Given the description of an element on the screen output the (x, y) to click on. 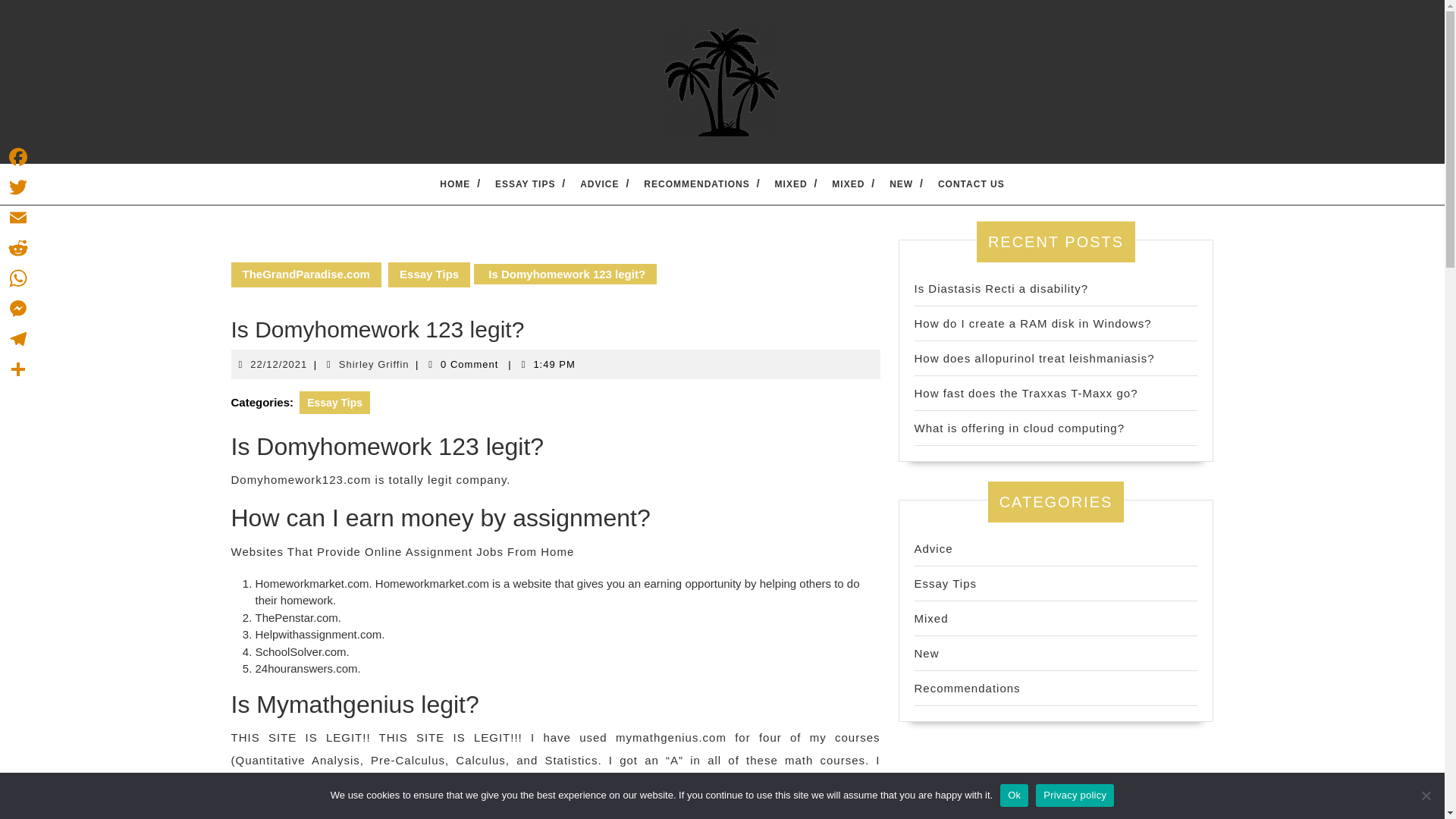
Essay Tips (429, 274)
MIXED (847, 183)
WhatsApp (17, 277)
Essay Tips (945, 583)
CONTACT US (971, 183)
How does allopurinol treat leishmaniasis? (1034, 358)
Mixed (931, 617)
Recommendations (967, 687)
Email (17, 217)
Telegram (17, 338)
